Given the description of an element on the screen output the (x, y) to click on. 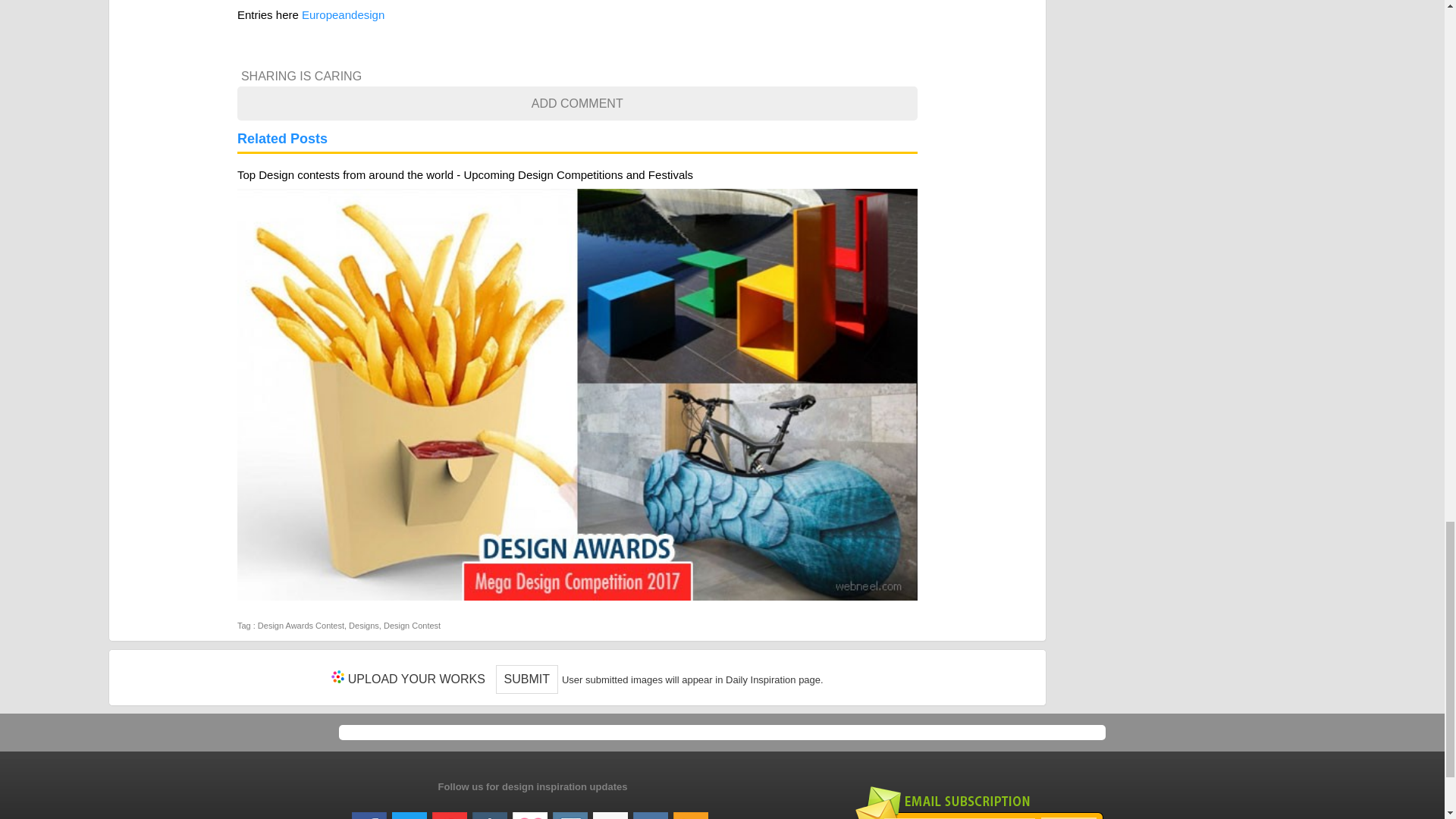
Pinterest (449, 809)
Subscribe (1068, 818)
Europeandesign (342, 14)
Tumblr (488, 809)
VK.com (650, 809)
Instagram (570, 809)
Flickr (609, 809)
Weheartit (529, 809)
